Given the description of an element on the screen output the (x, y) to click on. 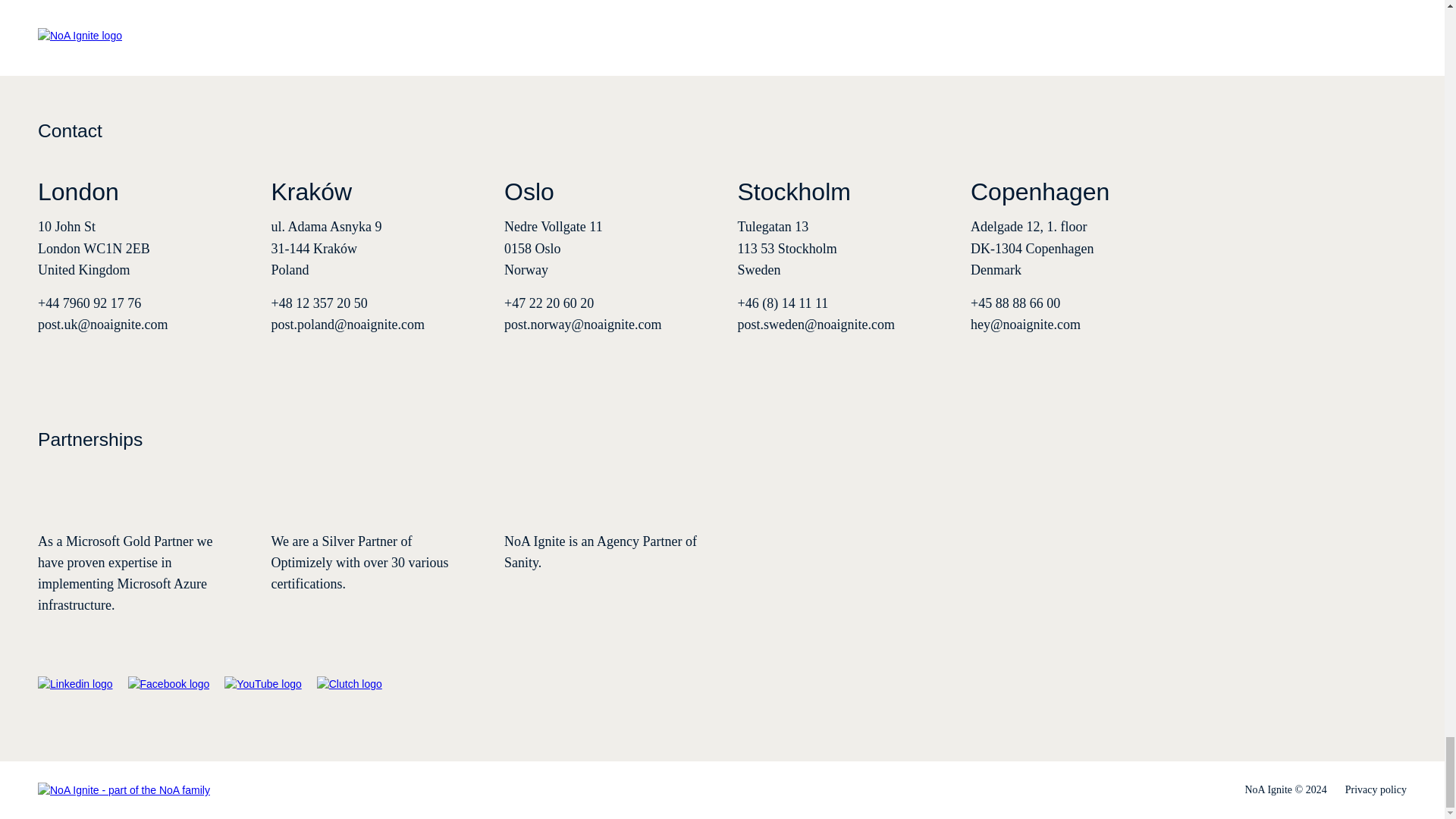
LinkedIn (75, 683)
Clutch (349, 683)
Facebook (168, 683)
YouTube (262, 683)
